Given the description of an element on the screen output the (x, y) to click on. 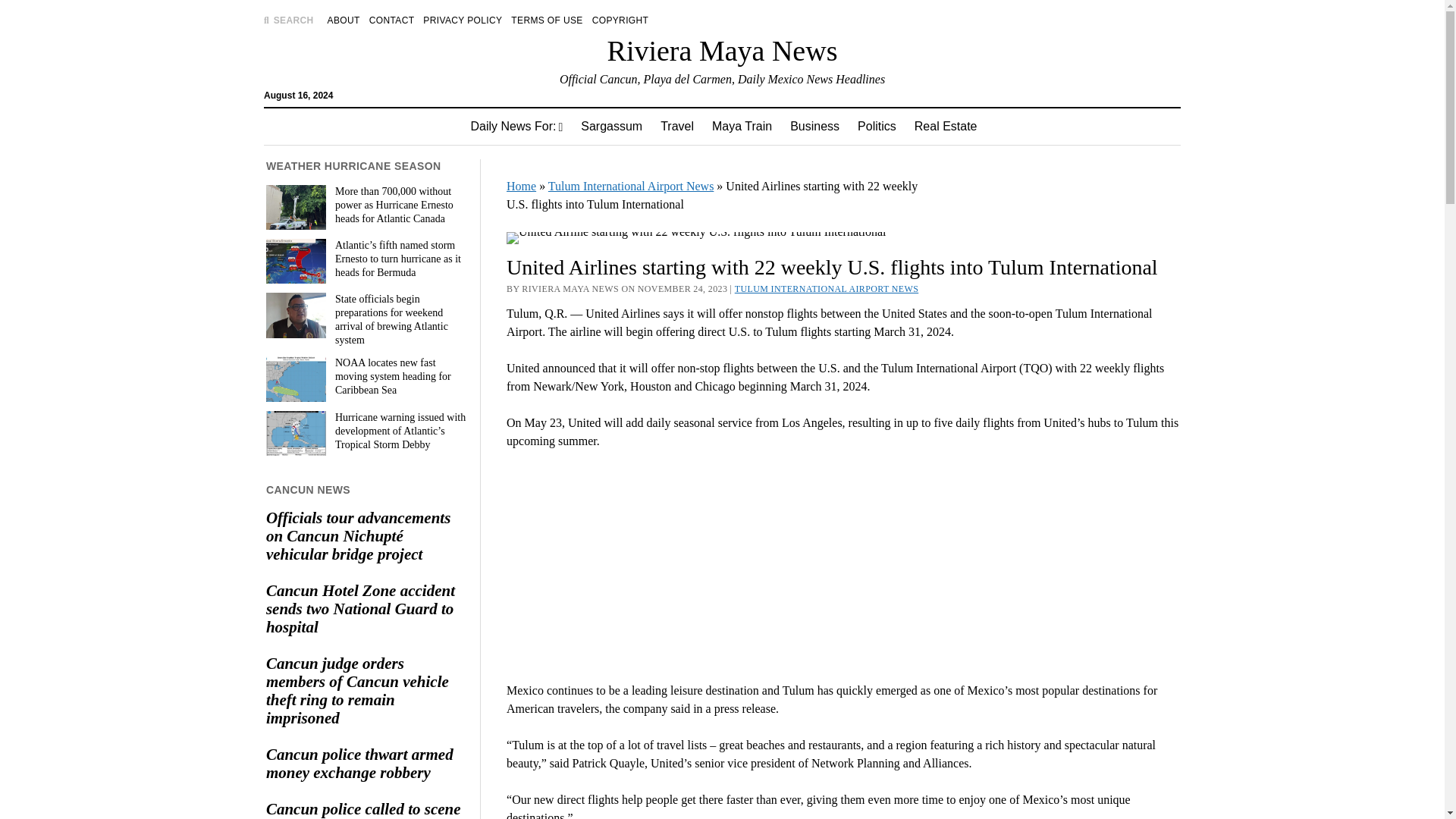
Search (945, 129)
View all posts in Tulum International Airport News (826, 288)
Sargassum (611, 126)
TERMS OF USE (546, 20)
Riviera Maya News (722, 50)
Daily News For: (516, 126)
SEARCH (288, 20)
CONTACT (391, 20)
ABOUT (343, 20)
COPYRIGHT (620, 20)
